Given the description of an element on the screen output the (x, y) to click on. 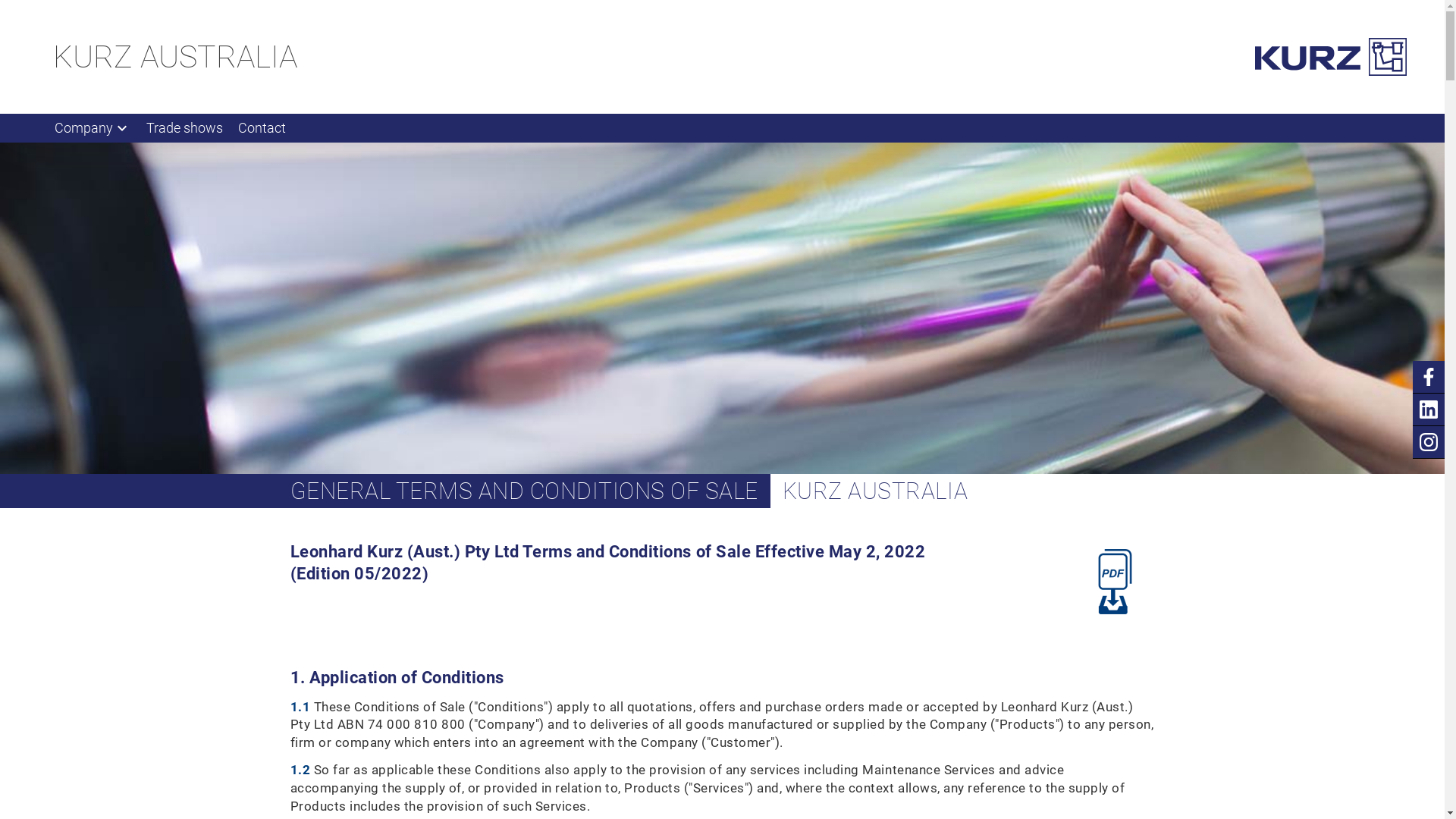
Contact Element type: text (261, 127)
KURZ AUSTRALIA Element type: text (175, 56)
Company Element type: text (92, 127)
Trade shows Element type: text (184, 127)
